Given the description of an element on the screen output the (x, y) to click on. 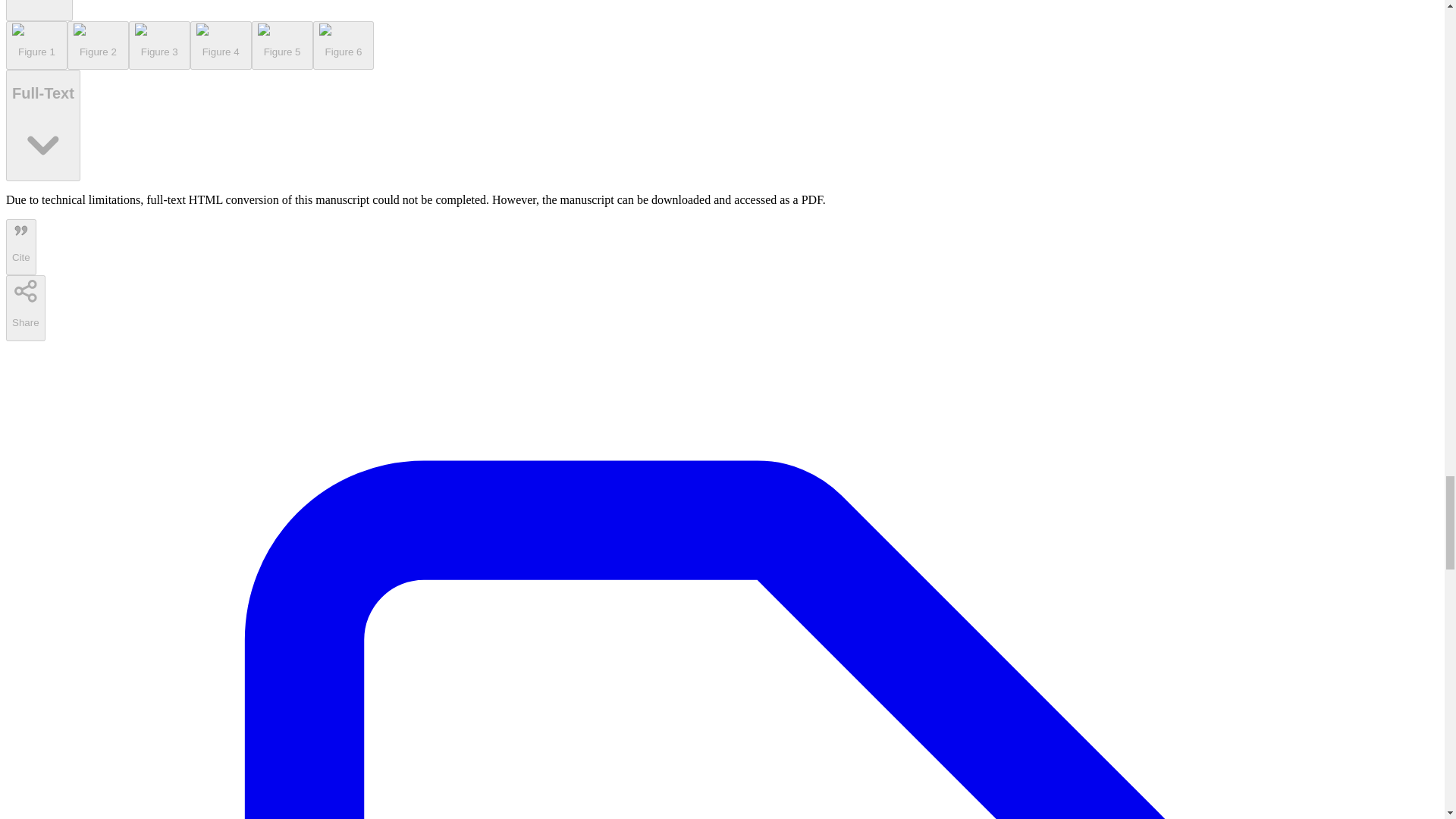
Figure 4 (220, 45)
Figure 2 (97, 45)
Figure 5 (282, 45)
Figure 6 (343, 45)
Figure 3 (159, 45)
Figures (38, 10)
Figure 1 (35, 45)
